Given the description of an element on the screen output the (x, y) to click on. 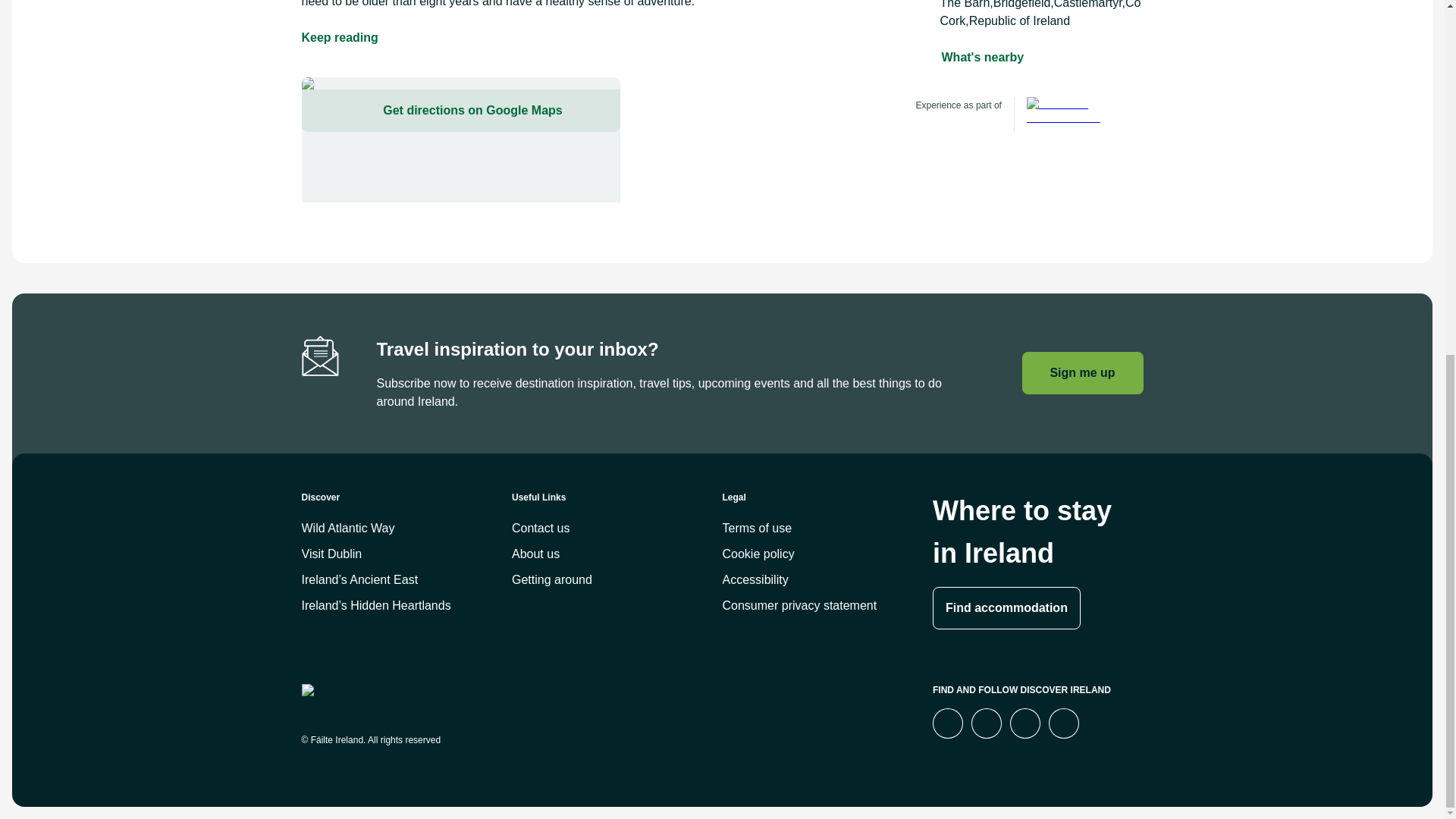
Keep reading (339, 37)
Get directions on Google Maps (460, 110)
Discover (406, 503)
What's nearby (983, 57)
Sign me up (1082, 372)
Ireland's Ancient East (1070, 114)
Get directions on Google Maps (460, 139)
